Given the description of an element on the screen output the (x, y) to click on. 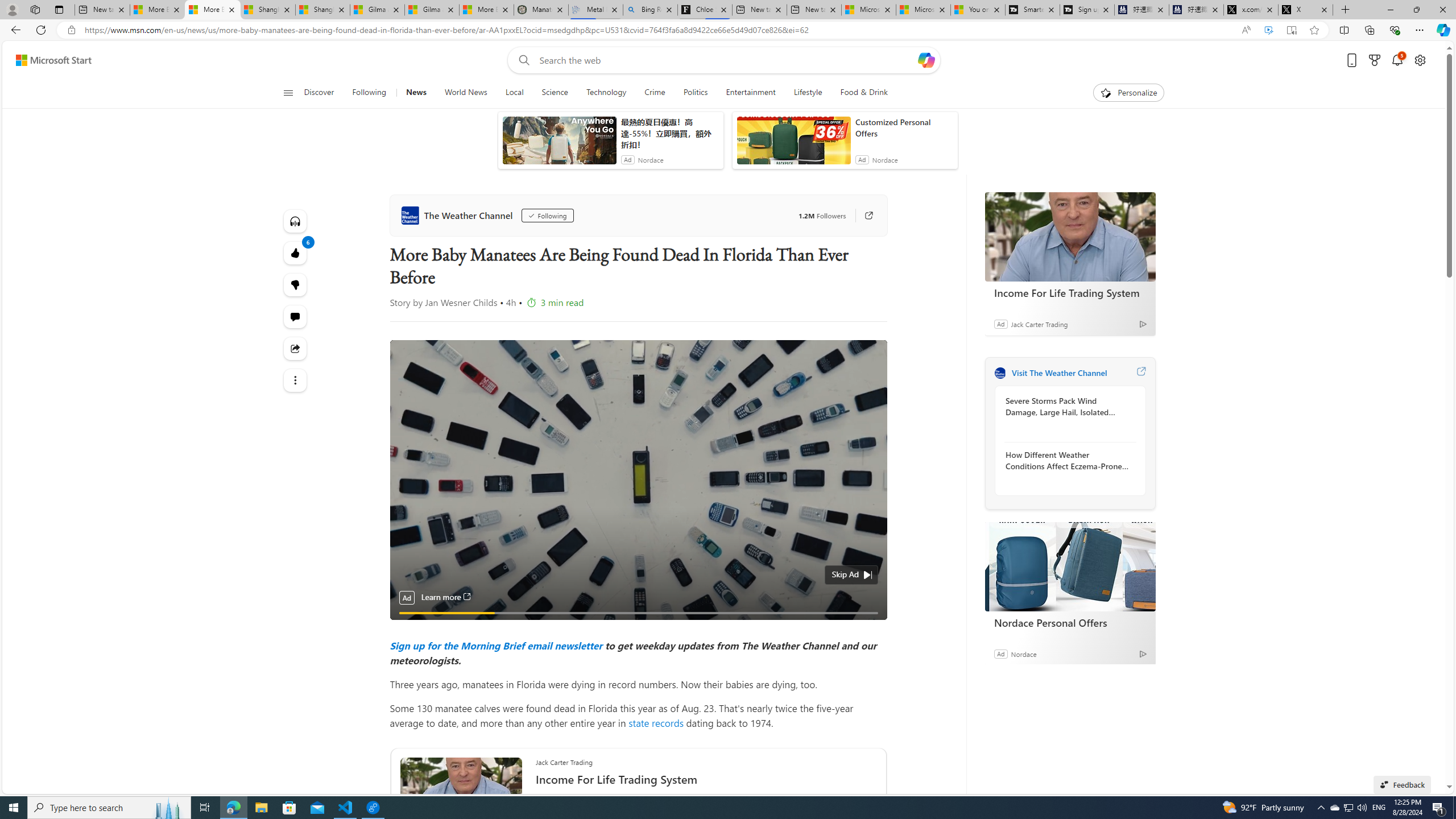
Ad Choice (1142, 653)
Bing Real Estate - Home sales and rental listings (650, 9)
Entertainment (750, 92)
Go to publisher's site (863, 215)
anim-content (793, 144)
World News (465, 92)
Unmute (871, 626)
Open settings (1420, 60)
Politics (695, 92)
Local (514, 92)
